Given the description of an element on the screen output the (x, y) to click on. 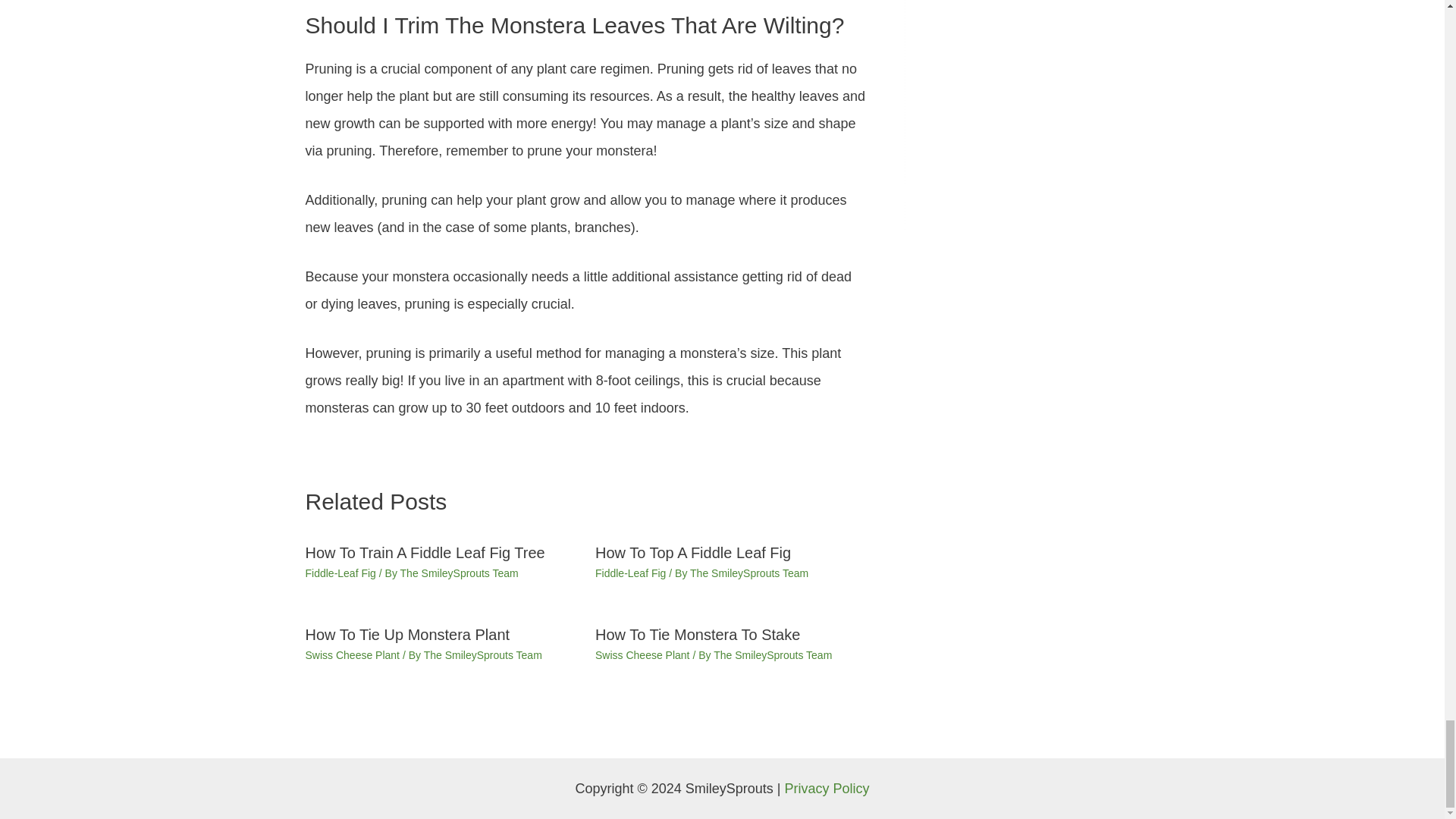
Fiddle-Leaf Fig (630, 573)
View all posts by The SmileySprouts Team (482, 654)
Swiss Cheese Plant (642, 654)
How To Top A Fiddle Leaf Fig (692, 552)
View all posts by The SmileySprouts Team (459, 573)
Fiddle-Leaf Fig (339, 573)
The SmileySprouts Team (482, 654)
Swiss Cheese Plant (351, 654)
The SmileySprouts Team (459, 573)
View all posts by The SmileySprouts Team (749, 573)
